Given the description of an element on the screen output the (x, y) to click on. 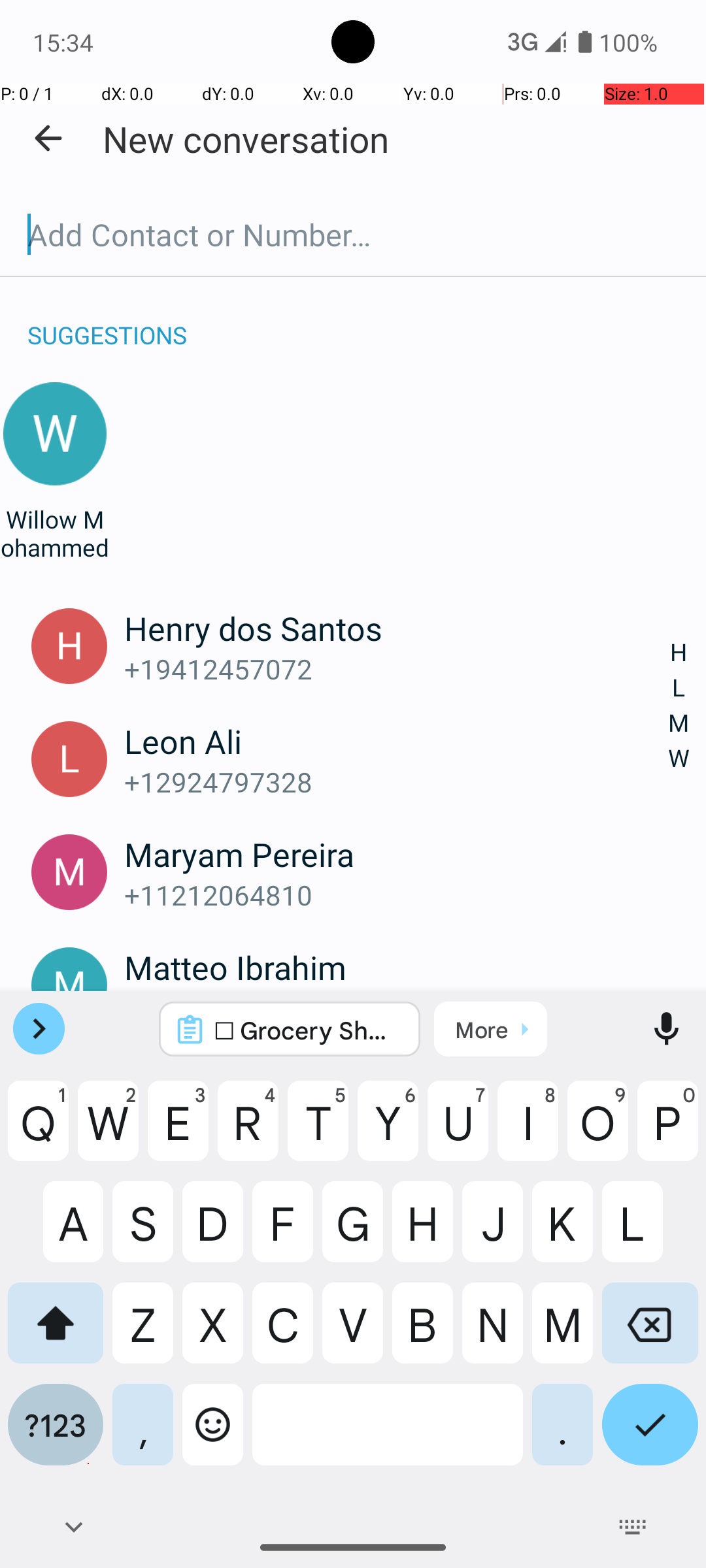
SUGGESTIONS Element type: android.widget.TextView (106, 321)
H
L
M
W Element type: android.widget.TextView (678, 705)
Willow Mohammed Element type: android.widget.TextView (54, 532)
Henry dos Santos Element type: android.widget.TextView (397, 627)
+19412457072 Element type: android.widget.TextView (397, 668)
Leon Ali Element type: android.widget.TextView (397, 740)
+12924797328 Element type: android.widget.TextView (397, 781)
Maryam Pereira Element type: android.widget.TextView (397, 853)
+11212064810 Element type: android.widget.TextView (397, 894)
Matteo Ibrahim Element type: android.widget.TextView (397, 966)
+12387634622 Element type: android.widget.TextView (397, 1007)
☐ Grocery Shopping ☐ Call Grandma ☐ Attend Team Meeting ☐ Take Dog to the Vet ☐ Finish Project Proposal ☐ Water Plants ☐ Reply to Emails ☐ Change Air Filter ☐ Submit Expense Report ☐ Submit Budget Report ☑ Read 'The Martian' ☑ Grocery Shopping ☑ Submit Expense Report ☑ Brainstorm Blog Post Ideas ☑ Change Air Filter ☑ Research Vacation Destinations ☑ Finish Project Proposal ☑ Change Air Filter ☑ Take Dog to the Vet ☑ Submit Expense Report ☑ Learn to Play Guitar Element type: android.widget.TextView (306, 1029)
